Given the description of an element on the screen output the (x, y) to click on. 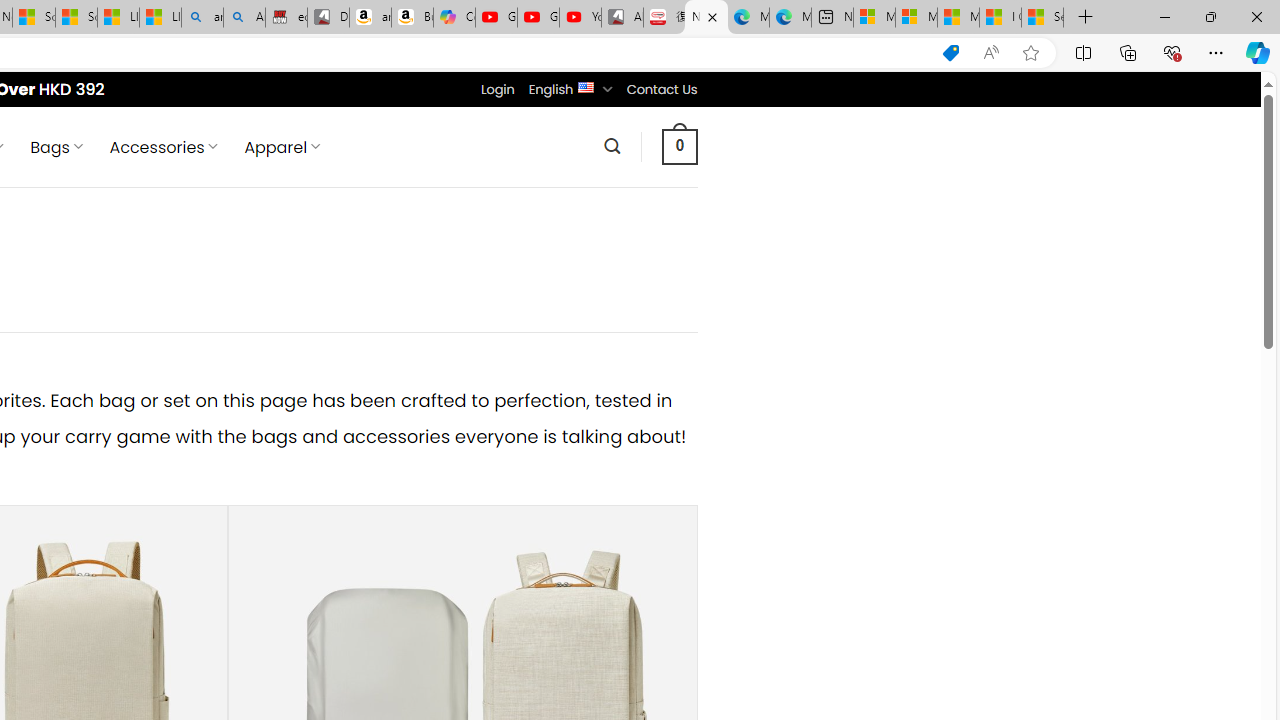
amazon - Search (201, 17)
Amazon Echo Dot PNG - Search Images (244, 17)
